Given the description of an element on the screen output the (x, y) to click on. 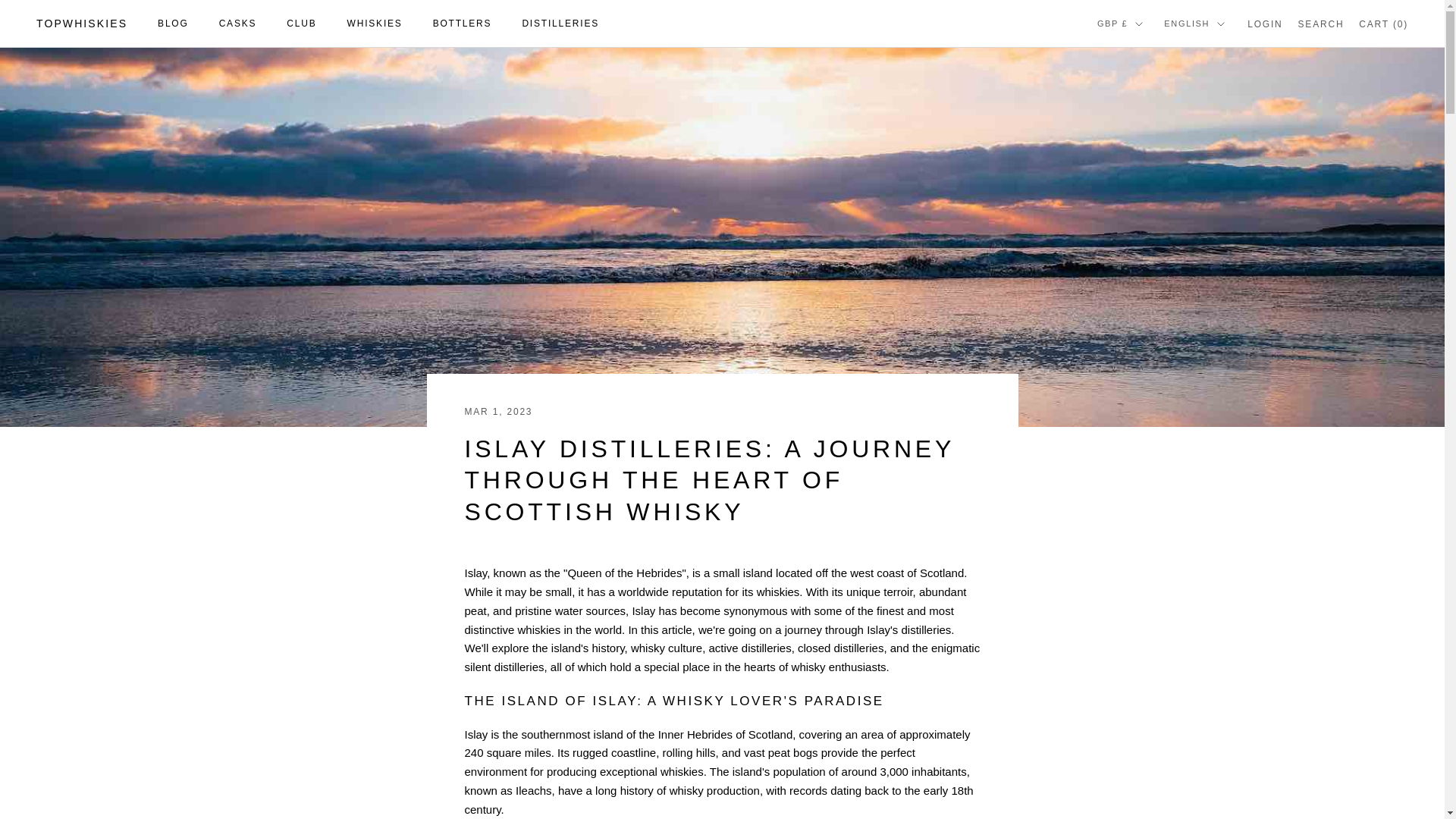
TOPWHISKIES (82, 24)
CLUB (300, 23)
CASKS (238, 23)
